Given the description of an element on the screen output the (x, y) to click on. 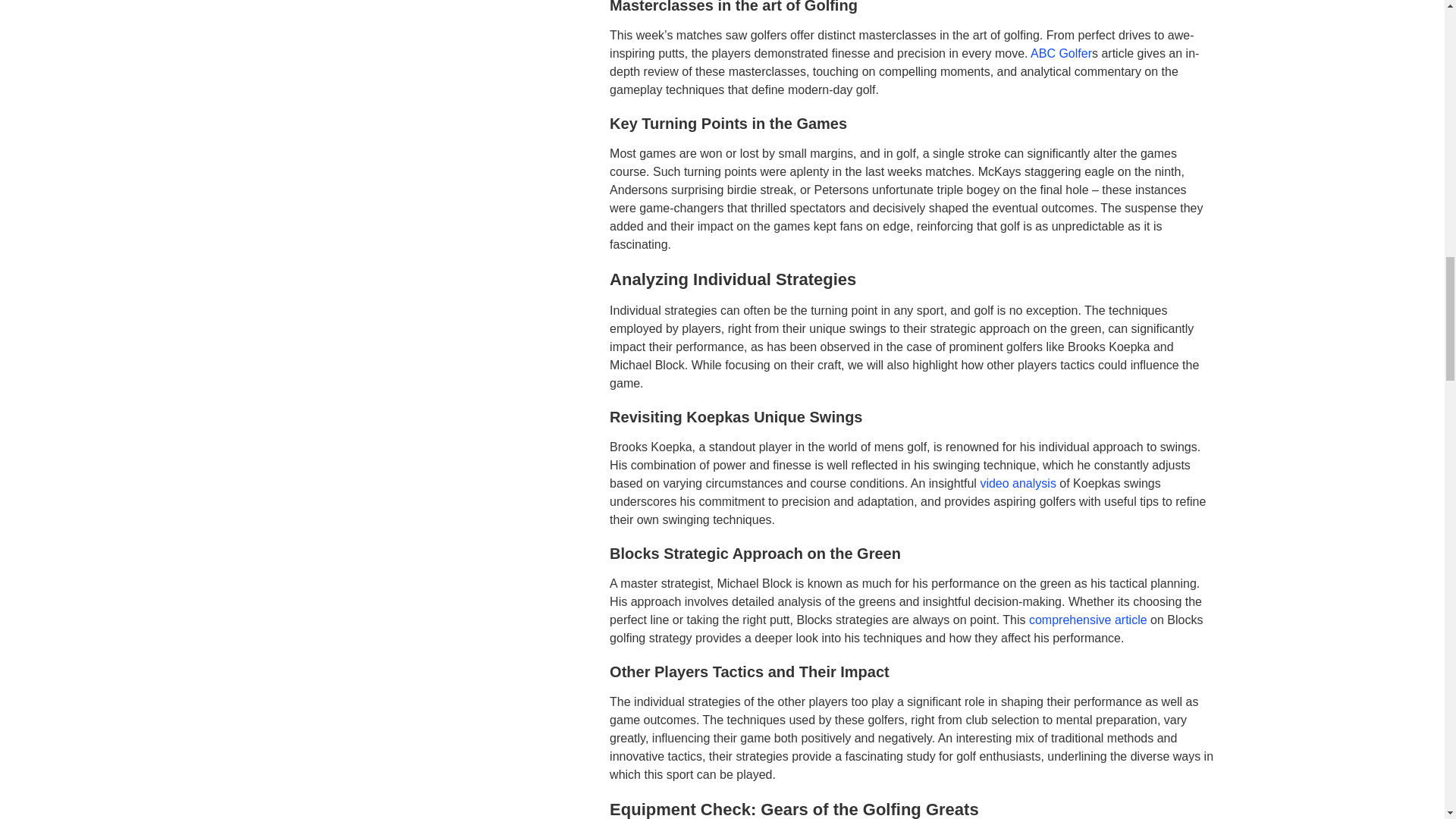
comprehensive article (1088, 619)
video analysis (1018, 482)
ABC Golfer (1061, 52)
